Given the description of an element on the screen output the (x, y) to click on. 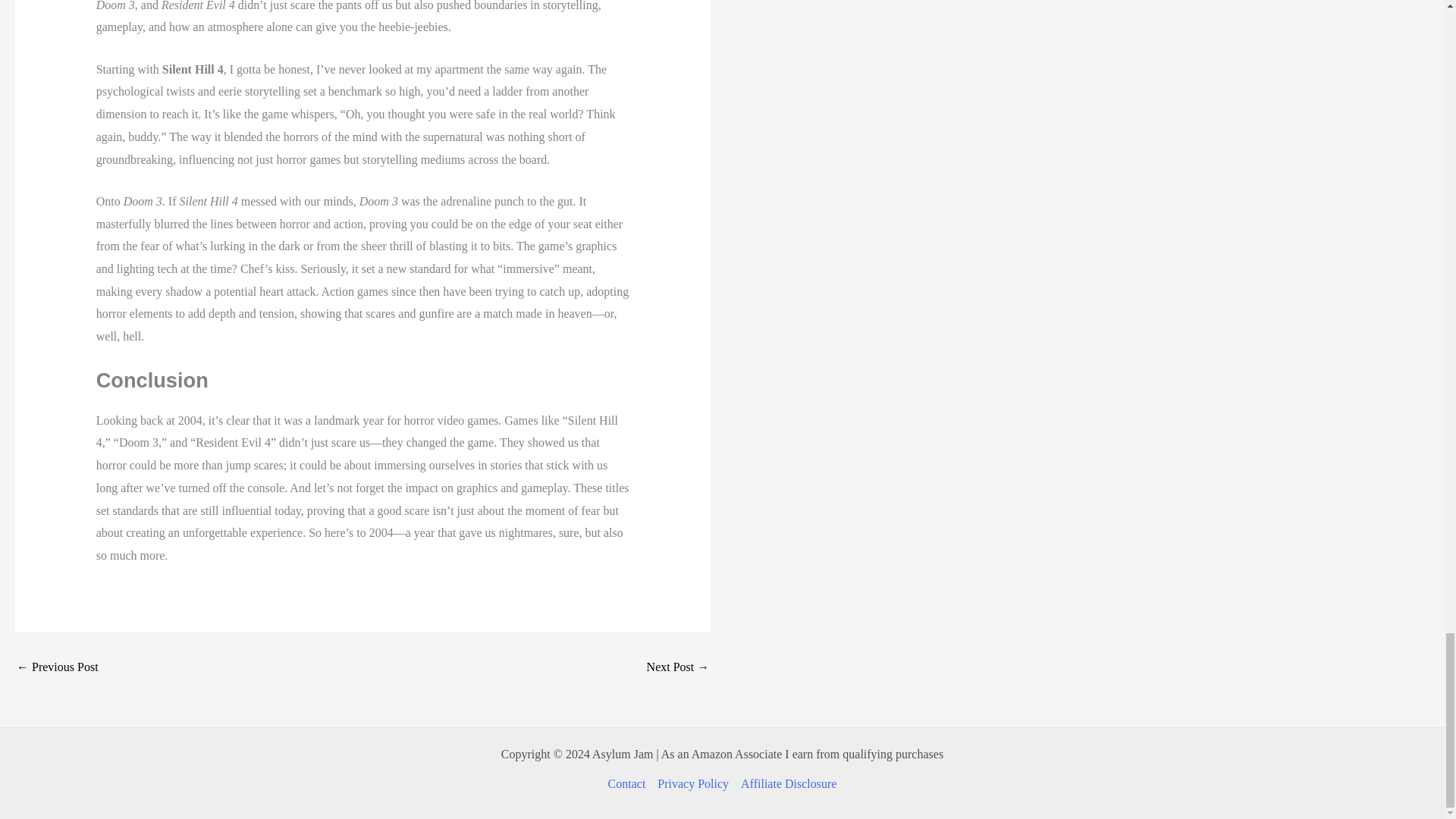
Contact (630, 784)
Affiliate Disclosure (785, 784)
Privacy Policy (692, 784)
Top Scariest Xbox 360 Games: Dare to Play Outlast? (678, 666)
